Given the description of an element on the screen output the (x, y) to click on. 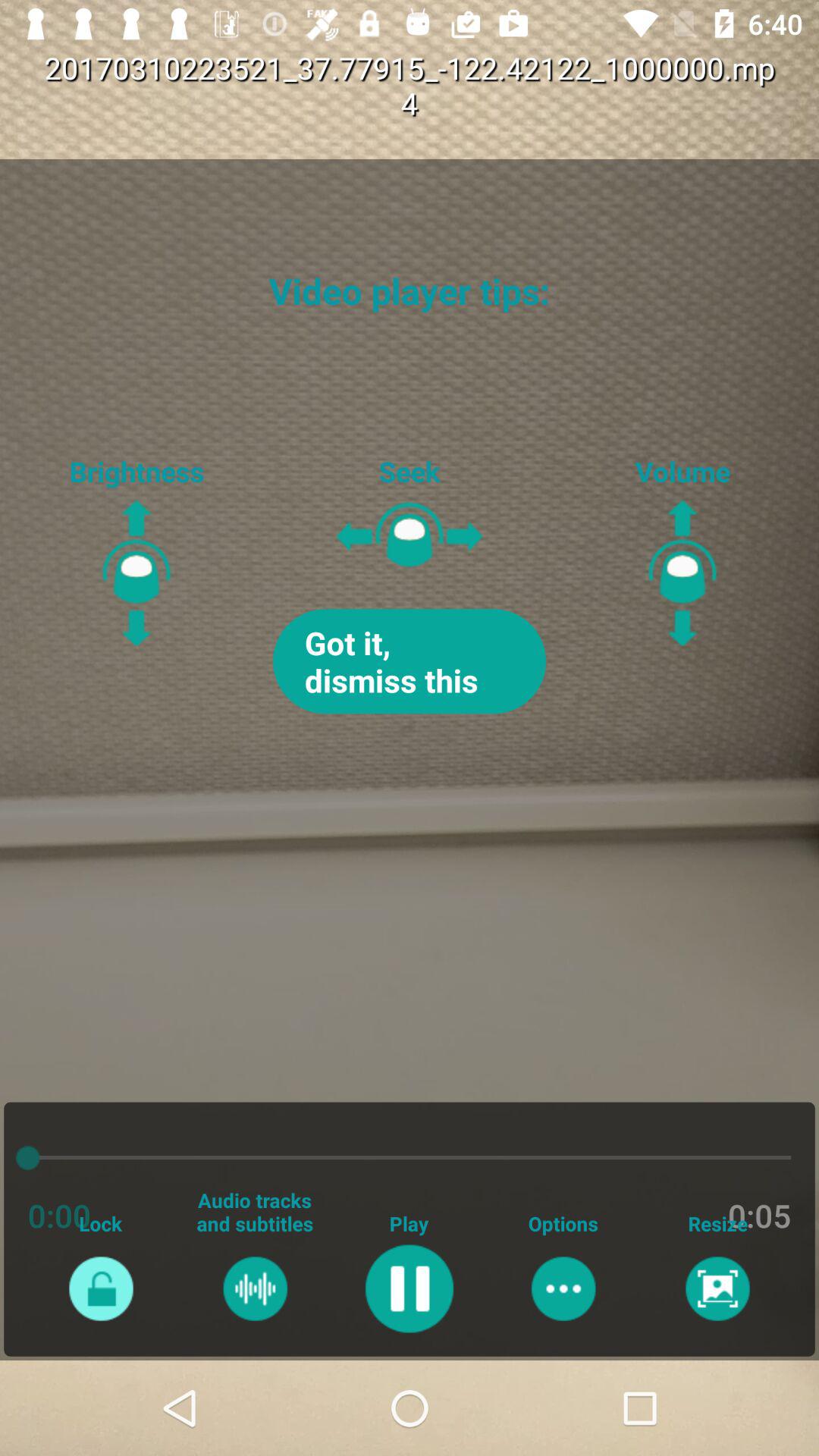
select the icon next to brightness item (409, 661)
